Given the description of an element on the screen output the (x, y) to click on. 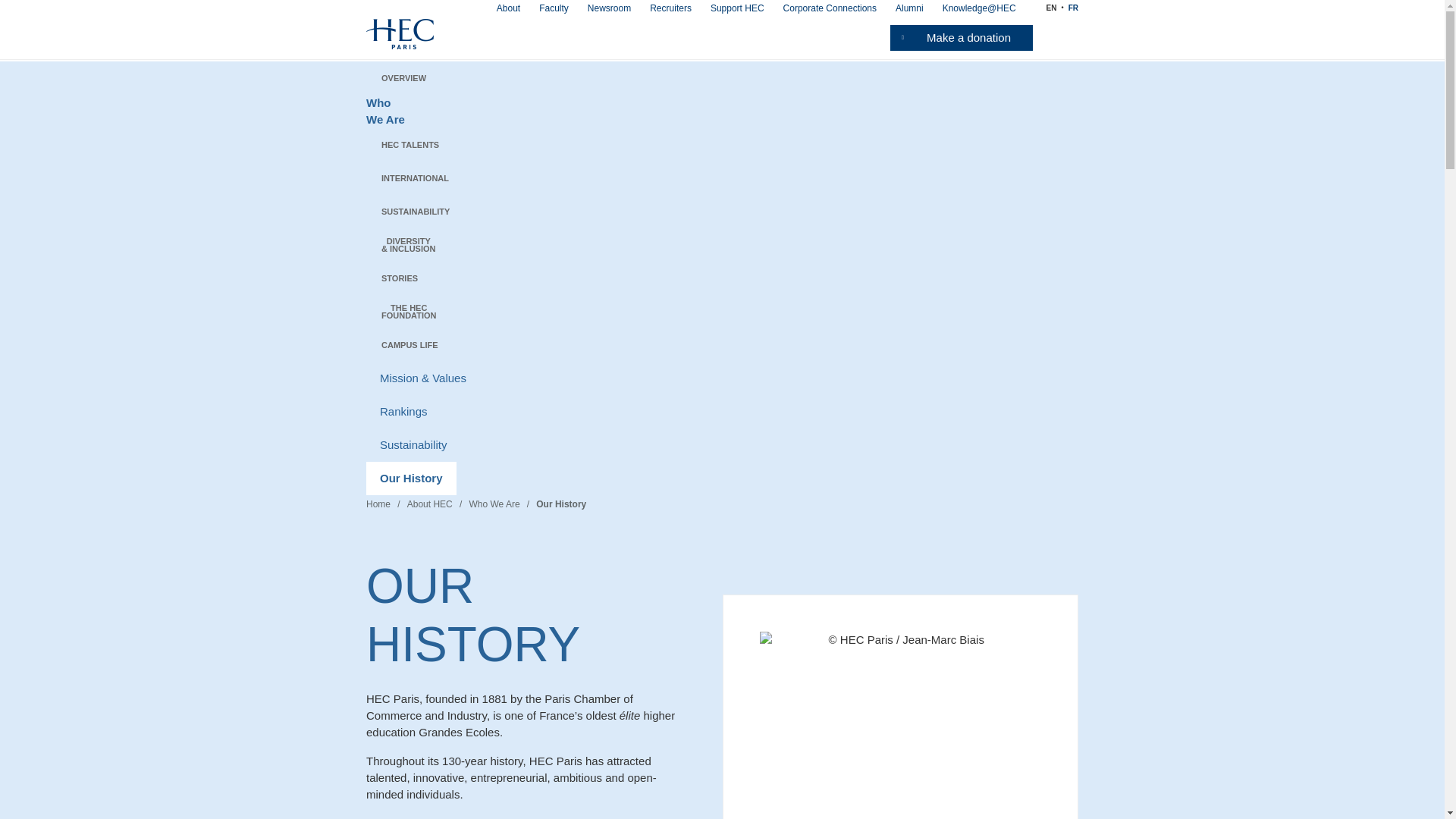
Faculty (553, 8)
Alumni (909, 8)
Support HEC (737, 8)
Faculty (553, 8)
FR (1073, 8)
Corporate Connections (829, 8)
Make a donation (960, 37)
Home (399, 32)
